Given the description of an element on the screen output the (x, y) to click on. 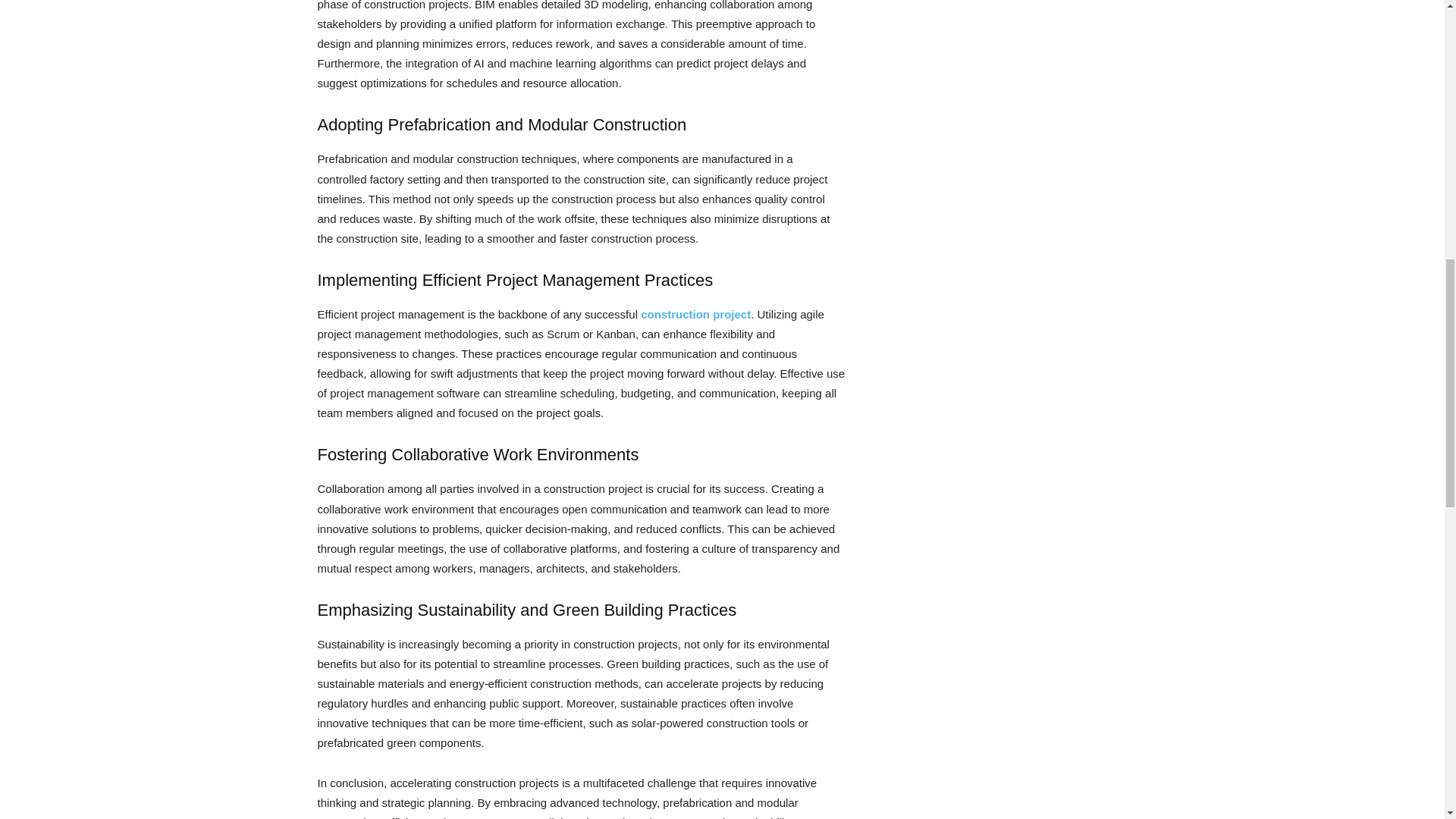
construction project (695, 314)
